Given the description of an element on the screen output the (x, y) to click on. 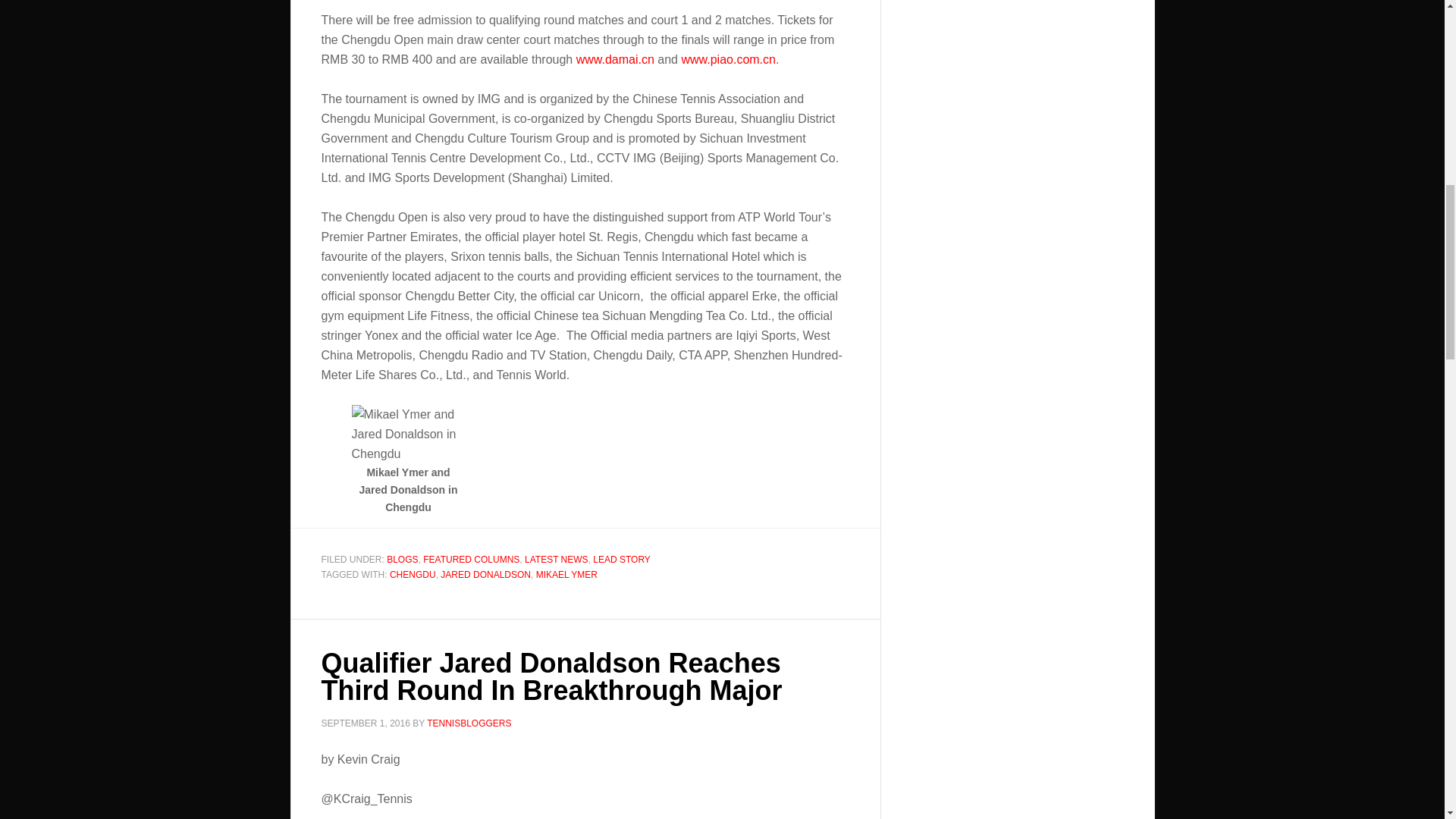
MIKAEL YMER (565, 574)
BLOGS (402, 559)
LEAD STORY (621, 559)
TENNISBLOGGERS (468, 723)
LATEST NEWS (556, 559)
www.damai.cn (614, 59)
FEATURED COLUMNS (471, 559)
CHENGDU (412, 574)
www.piao.com.cn (728, 59)
JARED DONALDSON (486, 574)
